Given the description of an element on the screen output the (x, y) to click on. 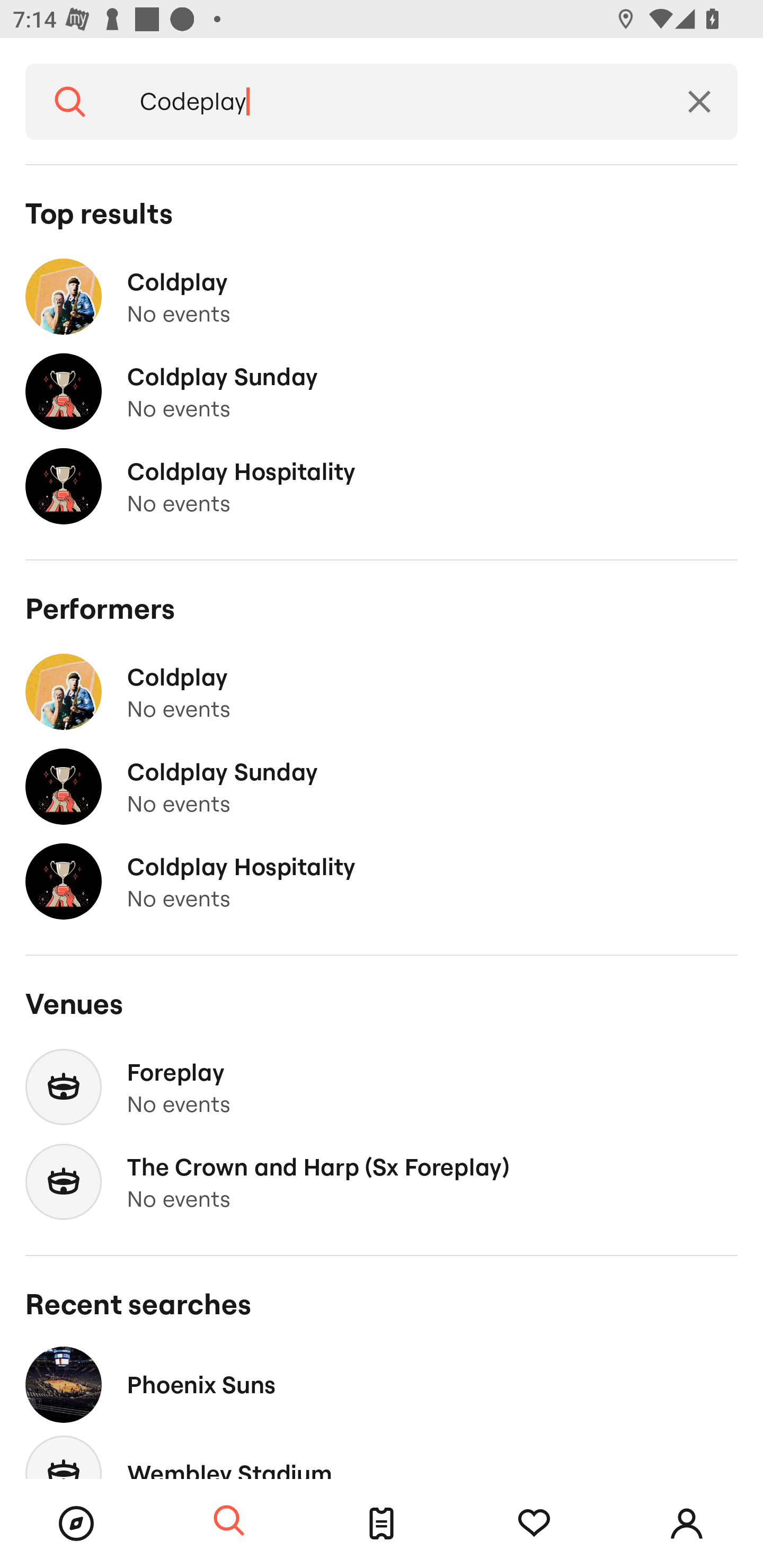
Search (69, 101)
Codeplay (387, 101)
Clear (699, 101)
Coldplay No events (381, 296)
Coldplay Sunday No events (381, 391)
Coldplay Hospitality No events (381, 486)
Coldplay No events (381, 692)
Coldplay Sunday No events (381, 787)
Coldplay Hospitality No events (381, 881)
Foreplay No events (381, 1087)
The Crown and Harp (Sx Foreplay) No events (381, 1182)
Phoenix Suns (381, 1384)
Browse (76, 1523)
Search (228, 1521)
Tickets (381, 1523)
Tracking (533, 1523)
Account (686, 1523)
